Given the description of an element on the screen output the (x, y) to click on. 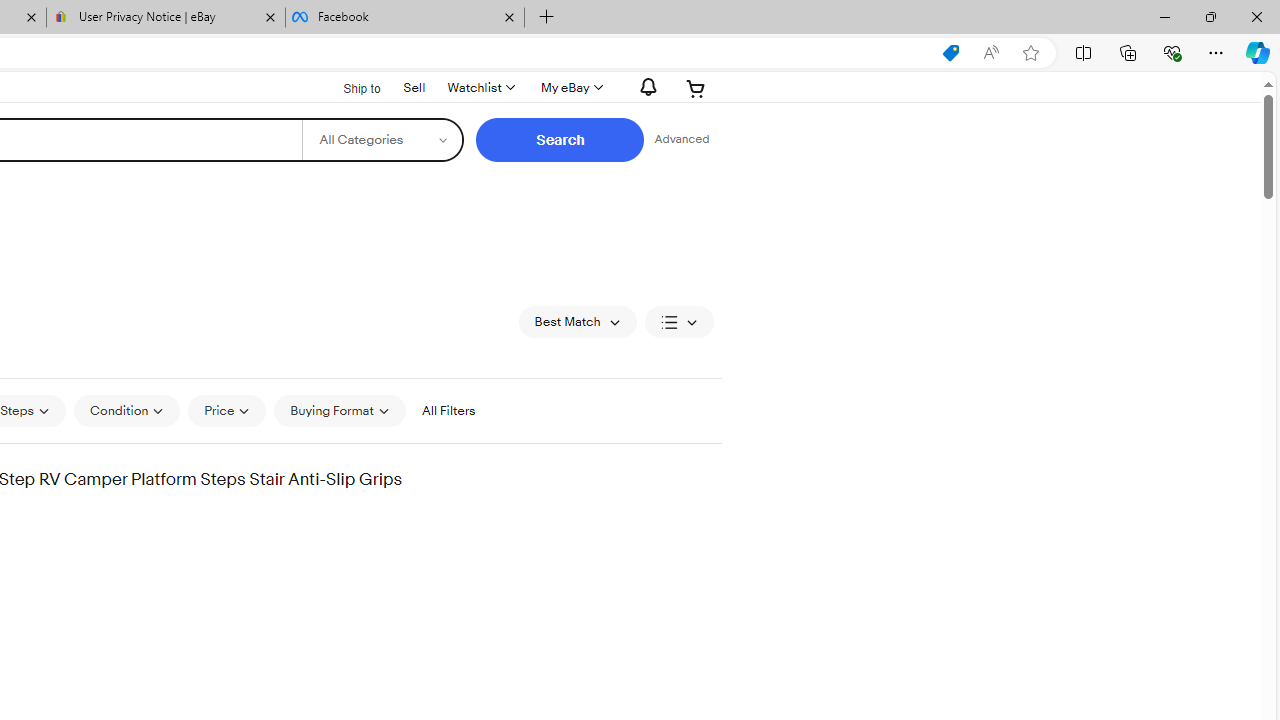
Add this page to favorites (Ctrl+D) (1030, 53)
Close tab (509, 16)
Condition (126, 410)
Minimize (1164, 16)
Facebook (404, 17)
Split screen (1083, 52)
Select a category for search (382, 139)
AutomationID: gh-eb-Alerts (645, 87)
Search (560, 140)
Settings and more (Alt+F) (1215, 52)
New Tab (546, 17)
View: List View (678, 321)
My eBayExpand My eBay (569, 88)
All Filters (448, 410)
Notifications (642, 87)
